Given the description of an element on the screen output the (x, y) to click on. 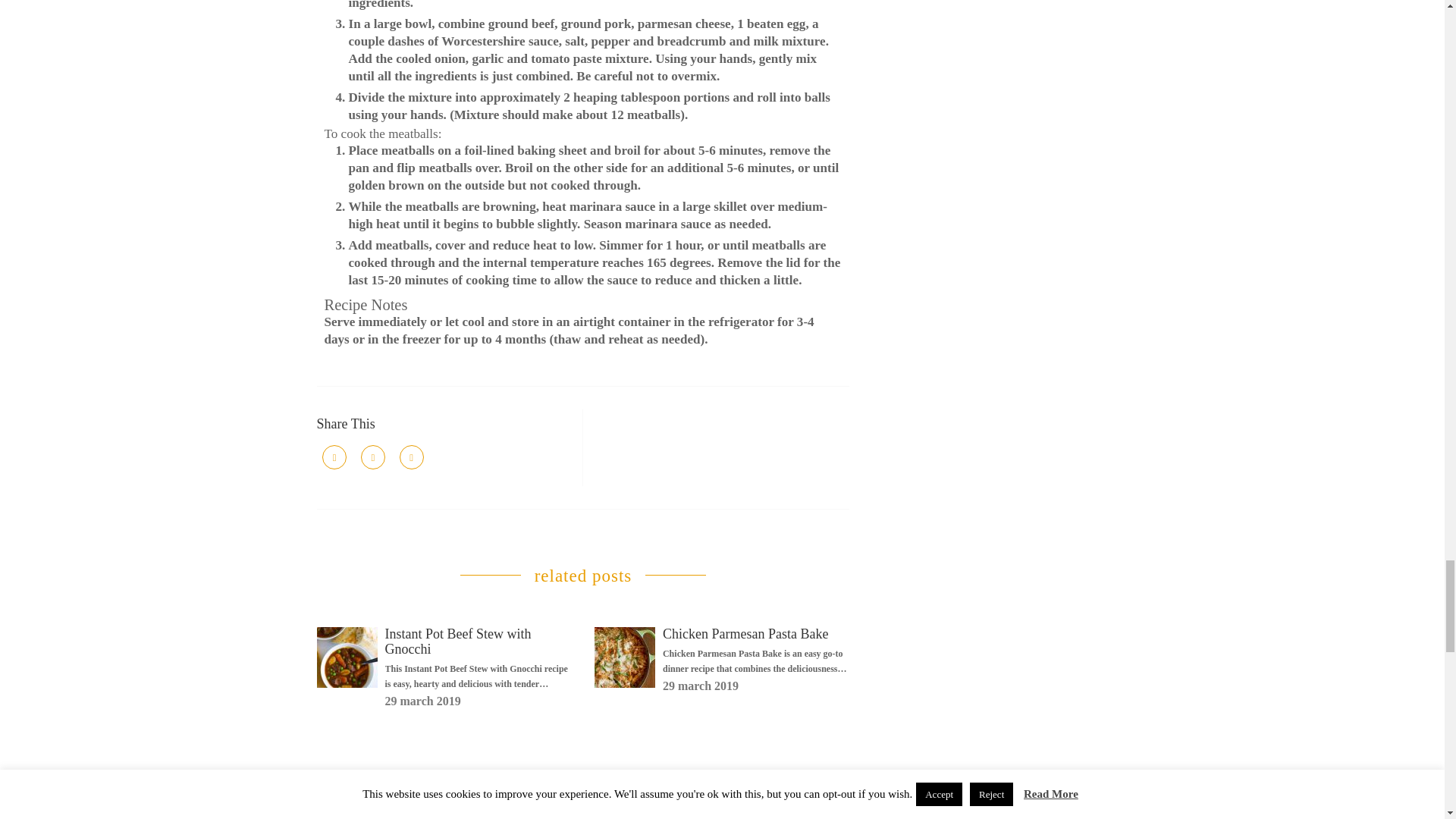
Instant Pot Beef Stew with Gnocchi (458, 641)
29 march 2019 (700, 685)
Chicken Parmesan Pasta Bake (745, 633)
29 march 2019 (423, 700)
